Given the description of an element on the screen output the (x, y) to click on. 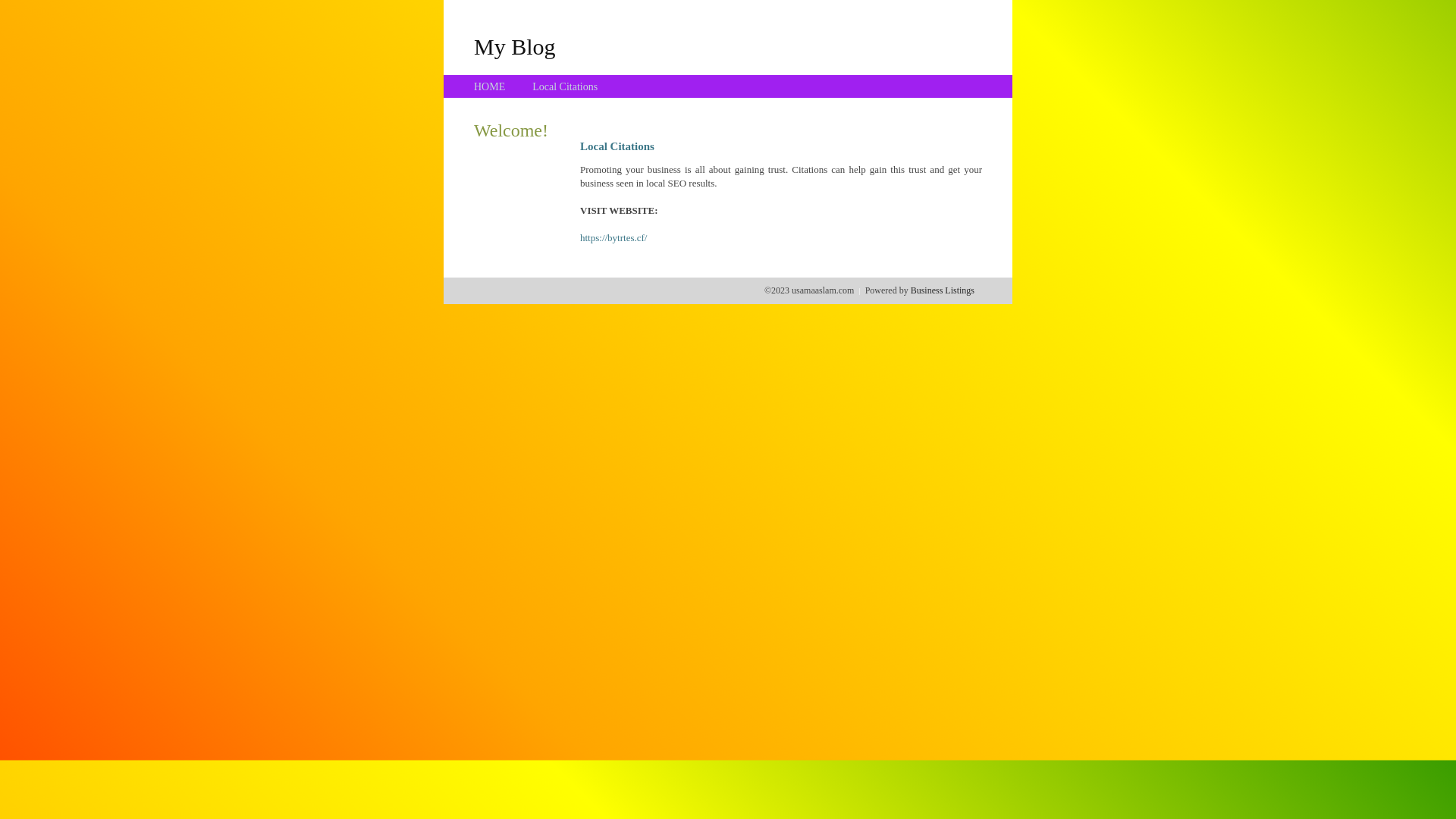
https://bytrtes.cf/ Element type: text (613, 237)
HOME Element type: text (489, 86)
Business Listings Element type: text (942, 290)
My Blog Element type: text (514, 46)
Local Citations Element type: text (564, 86)
